Given the description of an element on the screen output the (x, y) to click on. 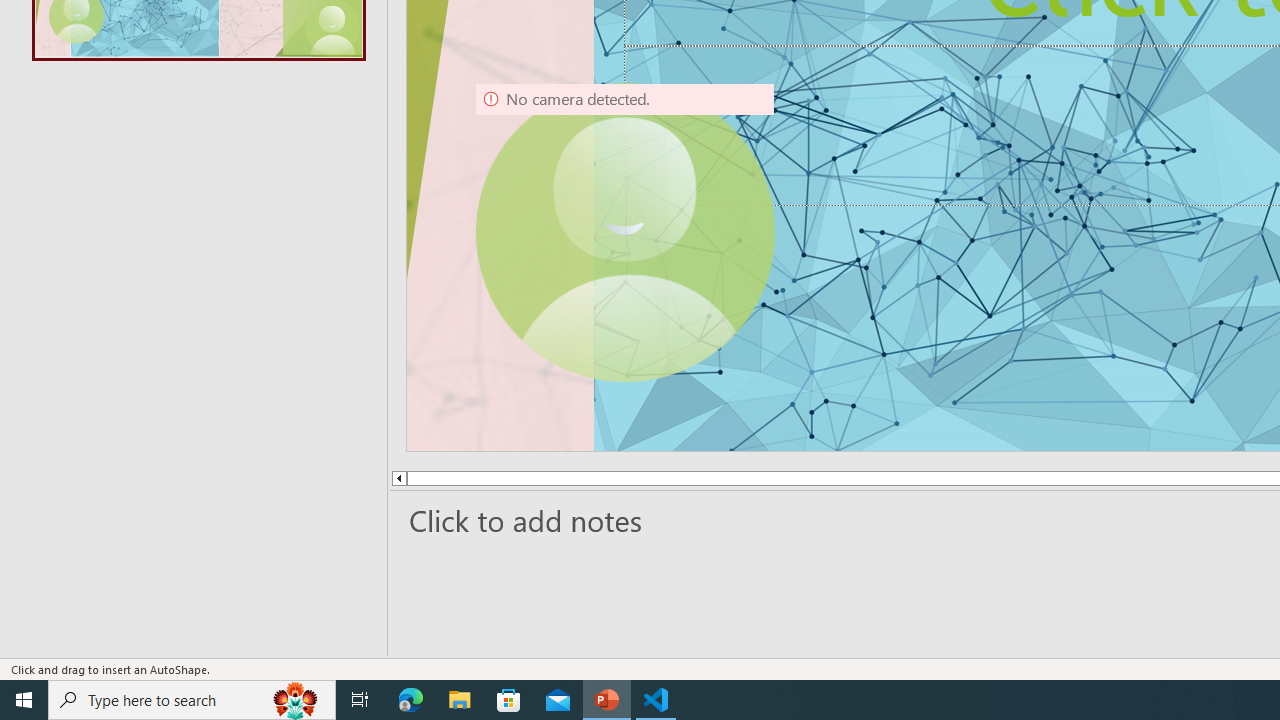
Camera 9, No camera detected. (624, 232)
